Given the description of an element on the screen output the (x, y) to click on. 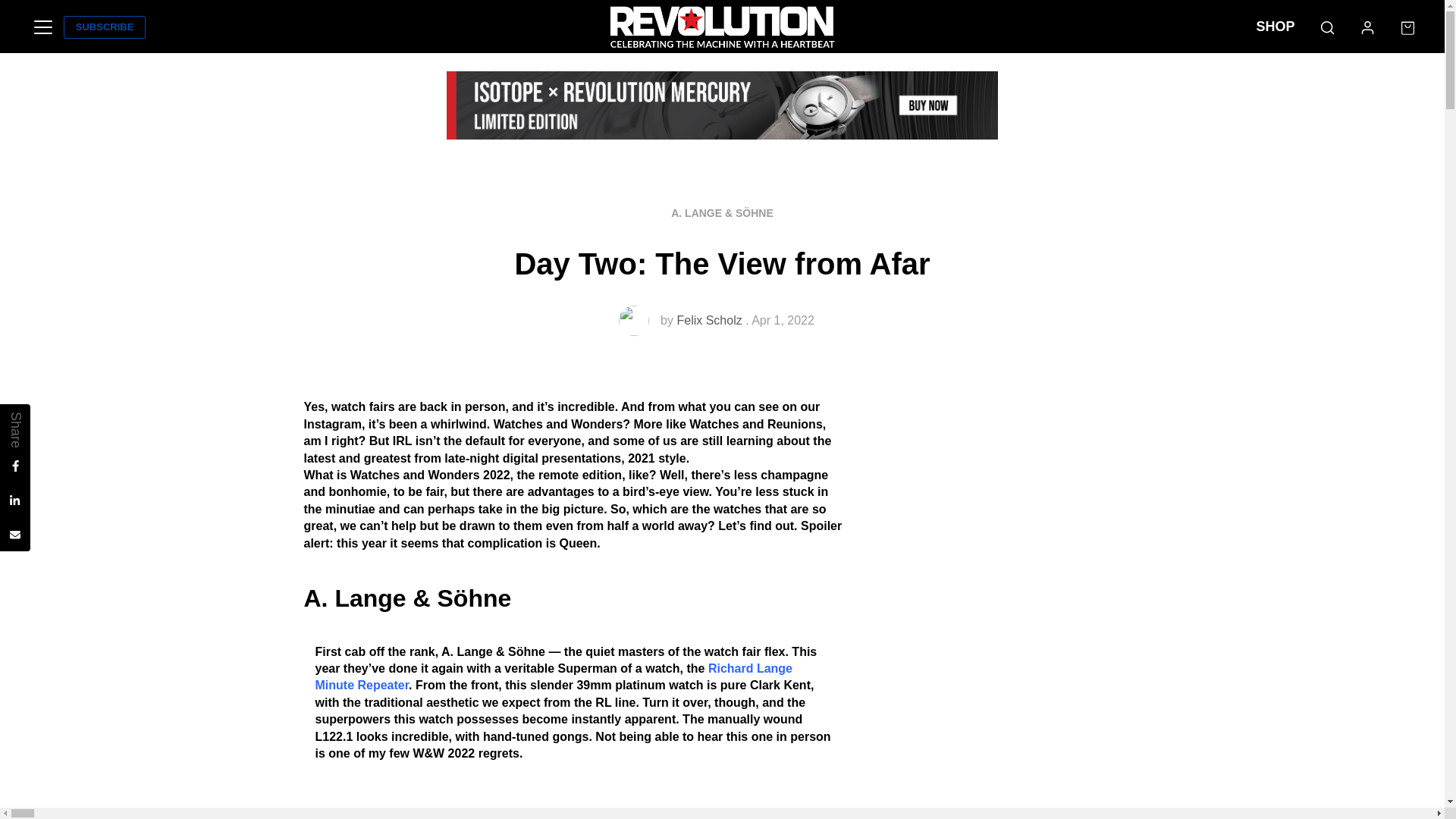
Richard Lange Minute Repeater (554, 676)
SUBSCRIBE (105, 26)
SHOP (1275, 26)
